Given the description of an element on the screen output the (x, y) to click on. 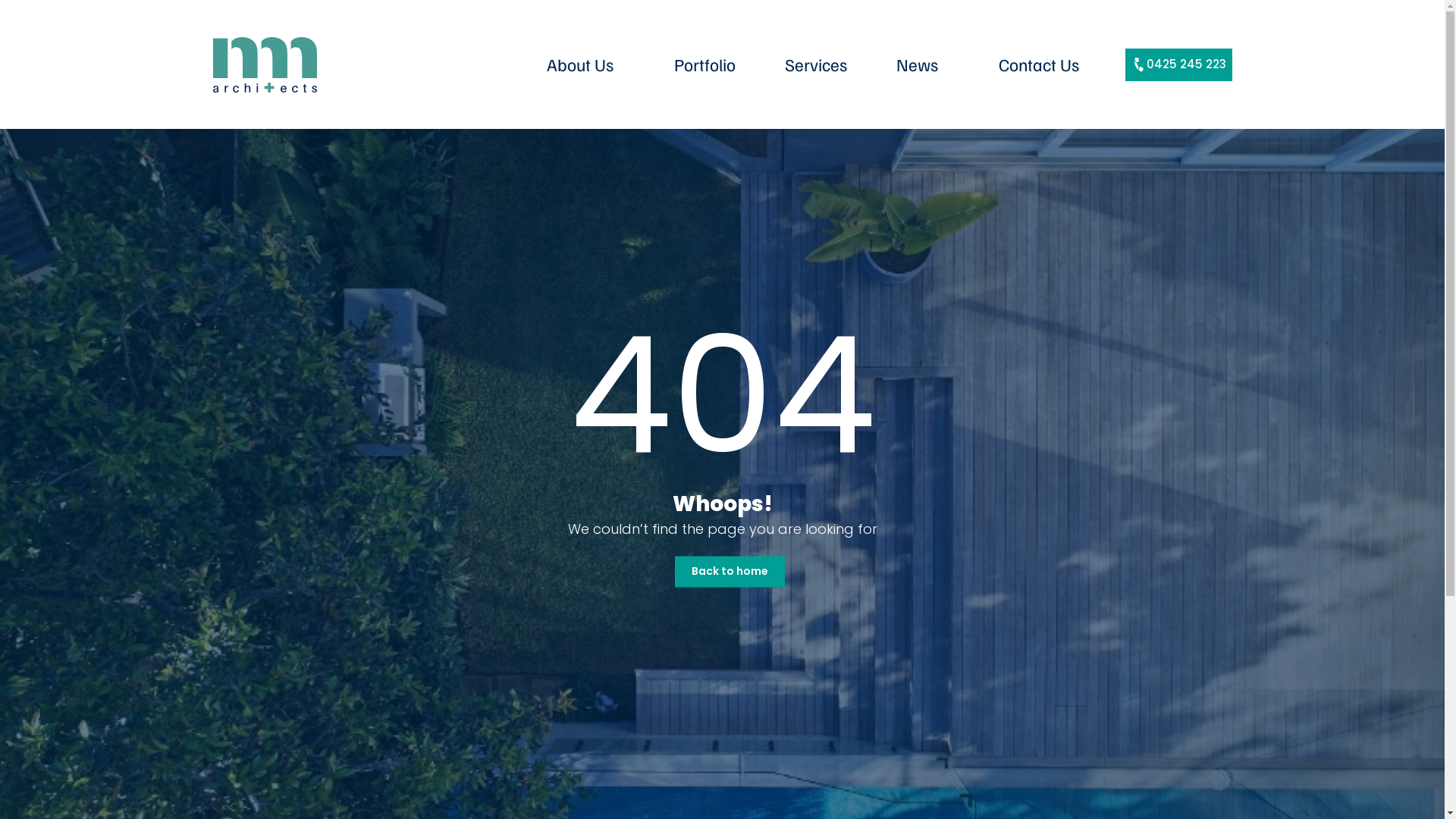
Back to home Element type: text (729, 571)
News Element type: text (916, 64)
About Us Element type: text (579, 64)
Portfolio Element type: text (704, 64)
Services Element type: text (815, 64)
0425 245 223 Element type: text (1178, 64)
Contact Us Element type: text (1038, 64)
